Given the description of an element on the screen output the (x, y) to click on. 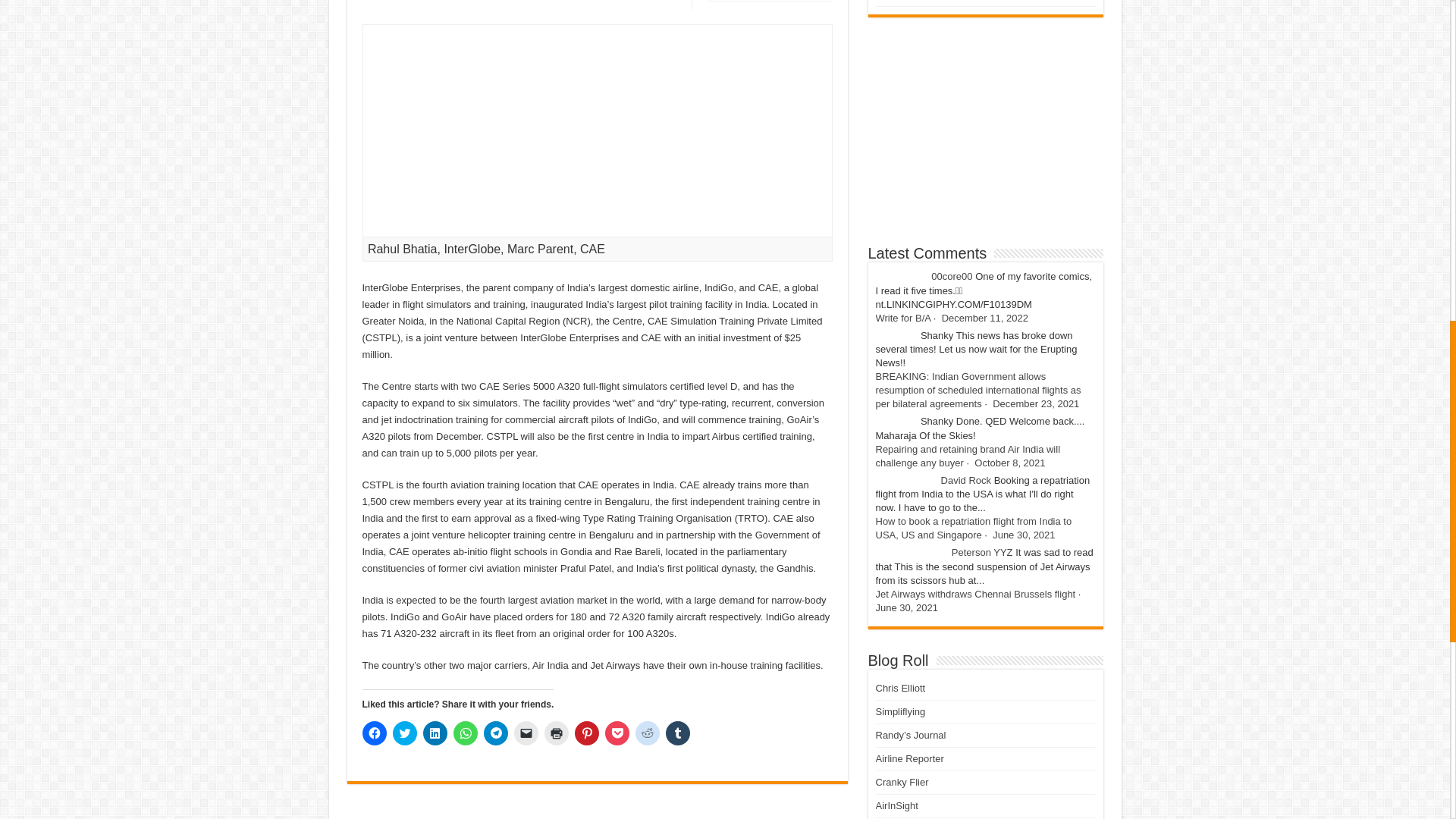
Click to share on Twitter (404, 733)
Click to print (556, 733)
Click to share on Pinterest (586, 733)
Click to share on LinkedIn (434, 733)
Click to email a link to a friend (525, 733)
Click to share on WhatsApp (464, 733)
Click to share on Facebook (374, 733)
Click to share on Telegram (495, 733)
